Given the description of an element on the screen output the (x, y) to click on. 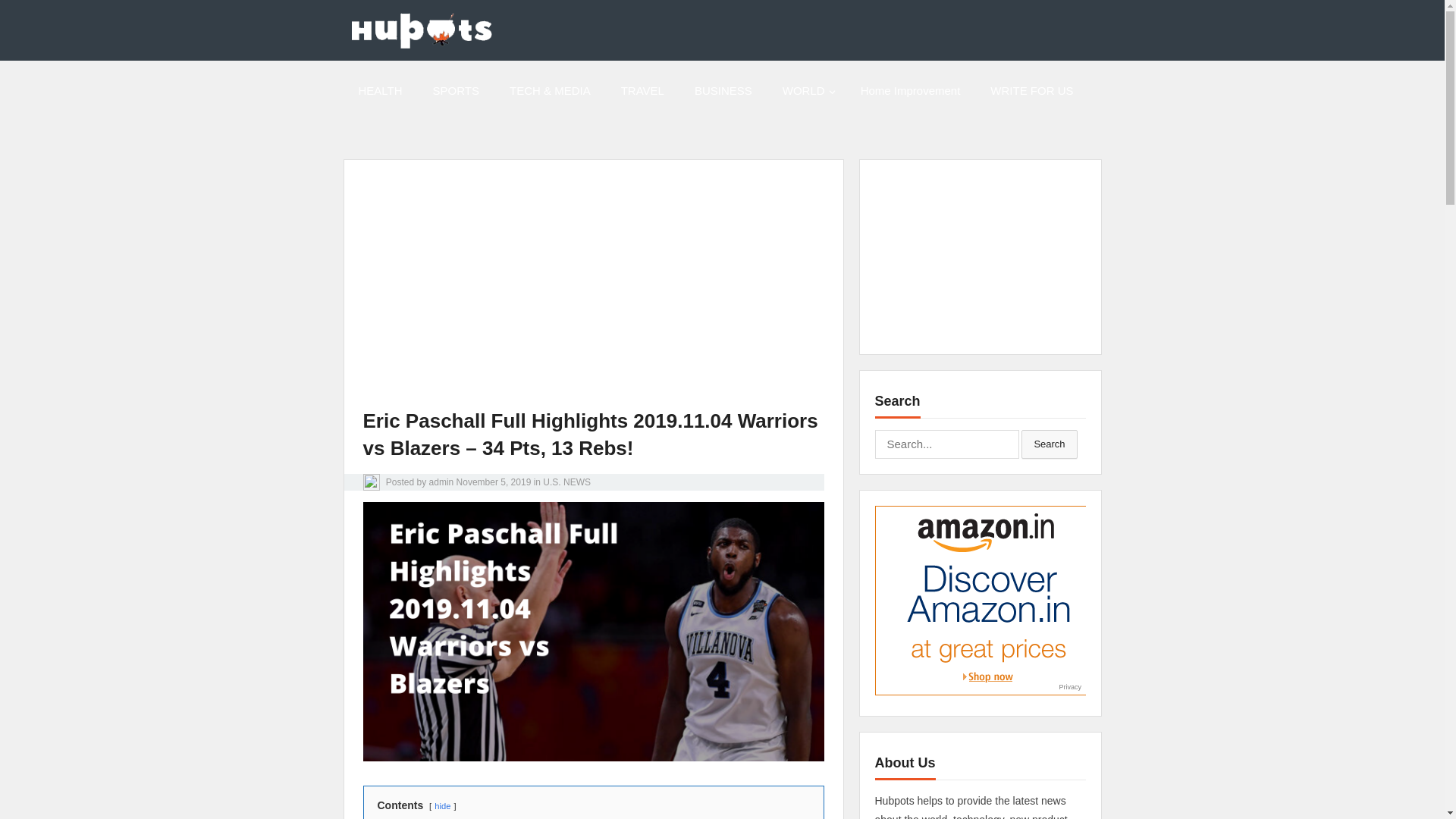
HEALTH (379, 90)
Posts by admin (441, 481)
U.S. NEWS (567, 481)
SPORTS (456, 90)
TRAVEL (642, 90)
Home Improvement (910, 90)
Advertisement (671, 295)
WRITE FOR US (1031, 90)
Search for: (947, 443)
WORLD (806, 90)
hide (441, 805)
View all posts in U.S. NEWS (567, 481)
admin (441, 481)
BUSINESS (723, 90)
